Given the description of an element on the screen output the (x, y) to click on. 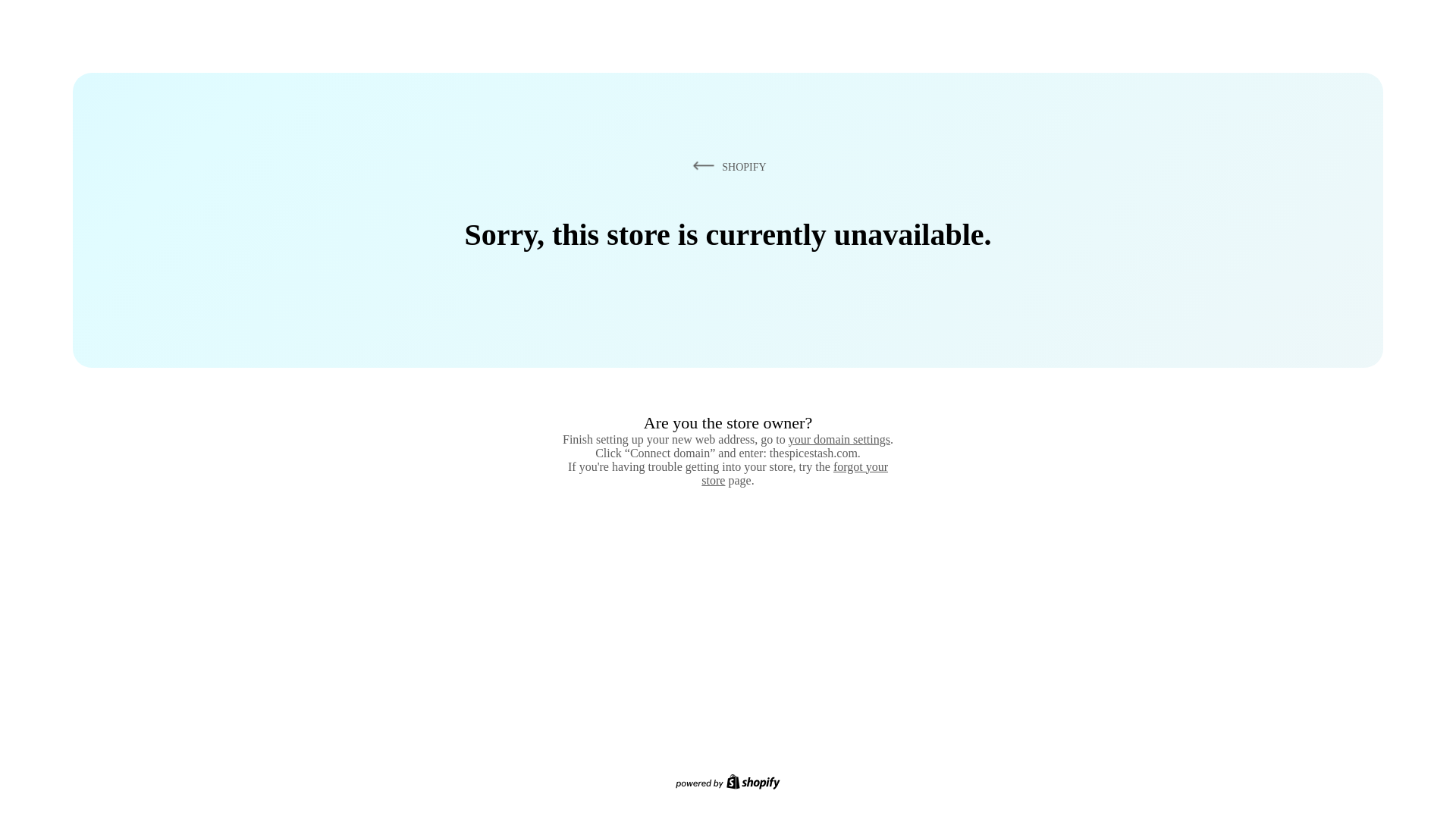
your domain settings (839, 439)
forgot your store (794, 473)
SHOPIFY (726, 166)
